Given the description of an element on the screen output the (x, y) to click on. 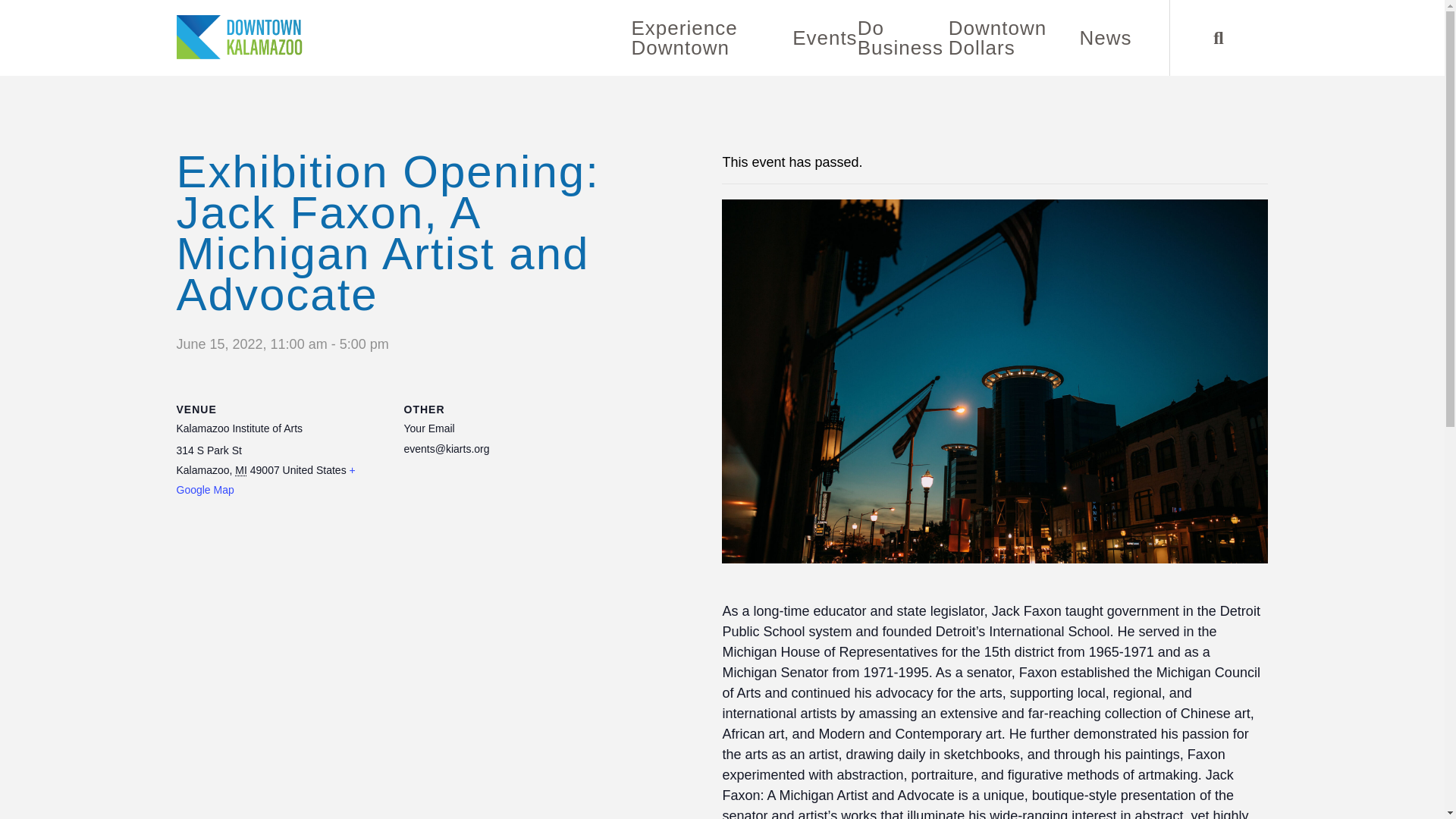
Do Business (900, 37)
Events (824, 37)
Experience Downtown (684, 37)
Michigan (240, 469)
Downtown Dollars (997, 37)
News (1104, 37)
Click to view a Google Map (265, 480)
